Given the description of an element on the screen output the (x, y) to click on. 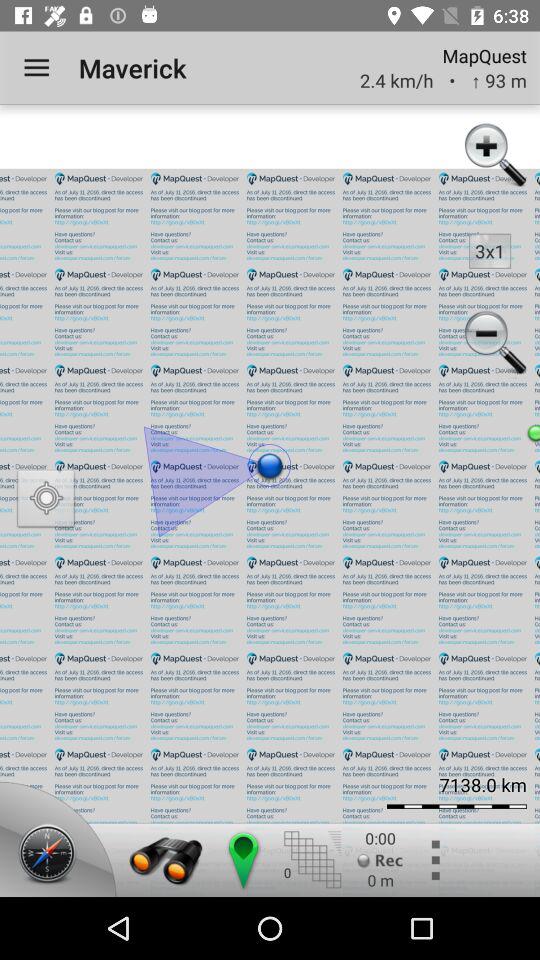
click on the more options icon which is at the bottom right corner of the page (434, 859)
